Given the description of an element on the screen output the (x, y) to click on. 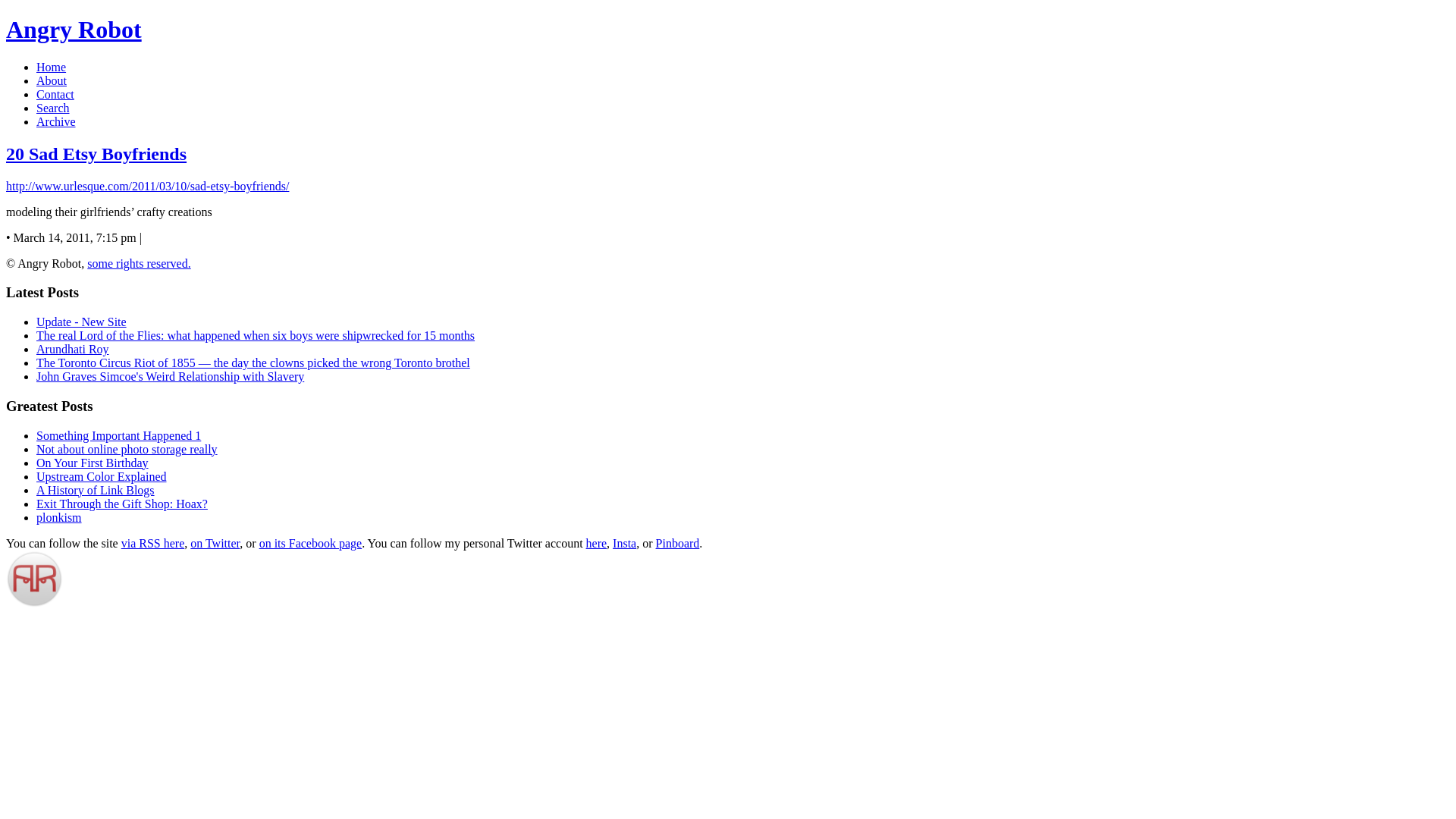
Update - New Site Element type: text (81, 321)
on its Facebook page Element type: text (310, 542)
Archive Element type: text (55, 121)
Something Important Happened 1 Element type: text (118, 435)
Exit Through the Gift Shop: Hoax? Element type: text (121, 503)
plonkism Element type: text (58, 517)
Upstream Color Explained Element type: text (101, 476)
here Element type: text (596, 542)
John Graves Simcoe's Weird Relationship with Slavery Element type: text (170, 376)
via RSS here Element type: text (153, 542)
A History of Link Blogs Element type: text (95, 489)
About Element type: text (51, 80)
Insta Element type: text (624, 542)
Arundhati Roy Element type: text (72, 348)
Search Element type: text (52, 107)
Contact Element type: text (55, 93)
some rights reserved. Element type: text (138, 263)
Angry Robot Element type: text (727, 29)
Not about online photo storage really Element type: text (126, 448)
http://www.urlesque.com/2011/03/10/sad-etsy-boyfriends/ Element type: text (147, 185)
20 Sad Etsy Boyfriends Element type: text (96, 153)
on Twitter Element type: text (214, 542)
Home Element type: text (50, 66)
On Your First Birthday Element type: text (92, 462)
Pinboard Element type: text (677, 542)
